Given the description of an element on the screen output the (x, y) to click on. 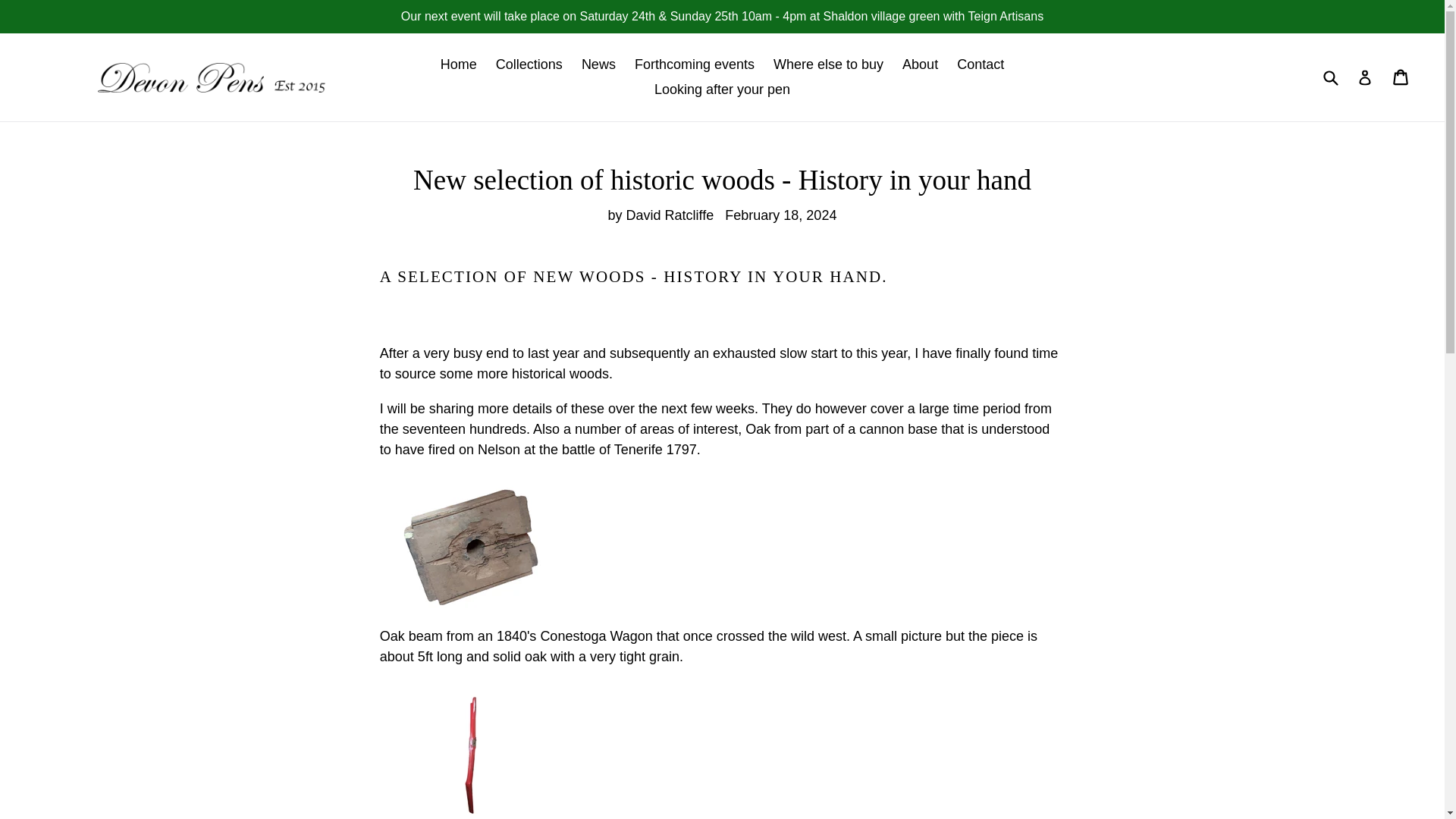
About (919, 64)
Contact (980, 64)
News (598, 64)
Collections (528, 64)
Home (458, 64)
Where else to buy (828, 64)
Looking after your pen (721, 89)
Forthcoming events (694, 64)
